Given the description of an element on the screen output the (x, y) to click on. 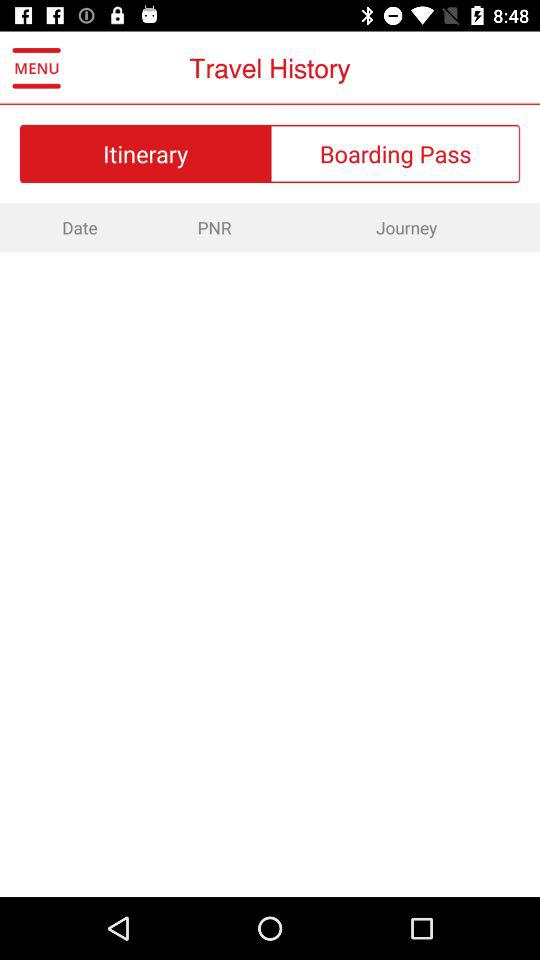
flip until the journey icon (406, 227)
